Given the description of an element on the screen output the (x, y) to click on. 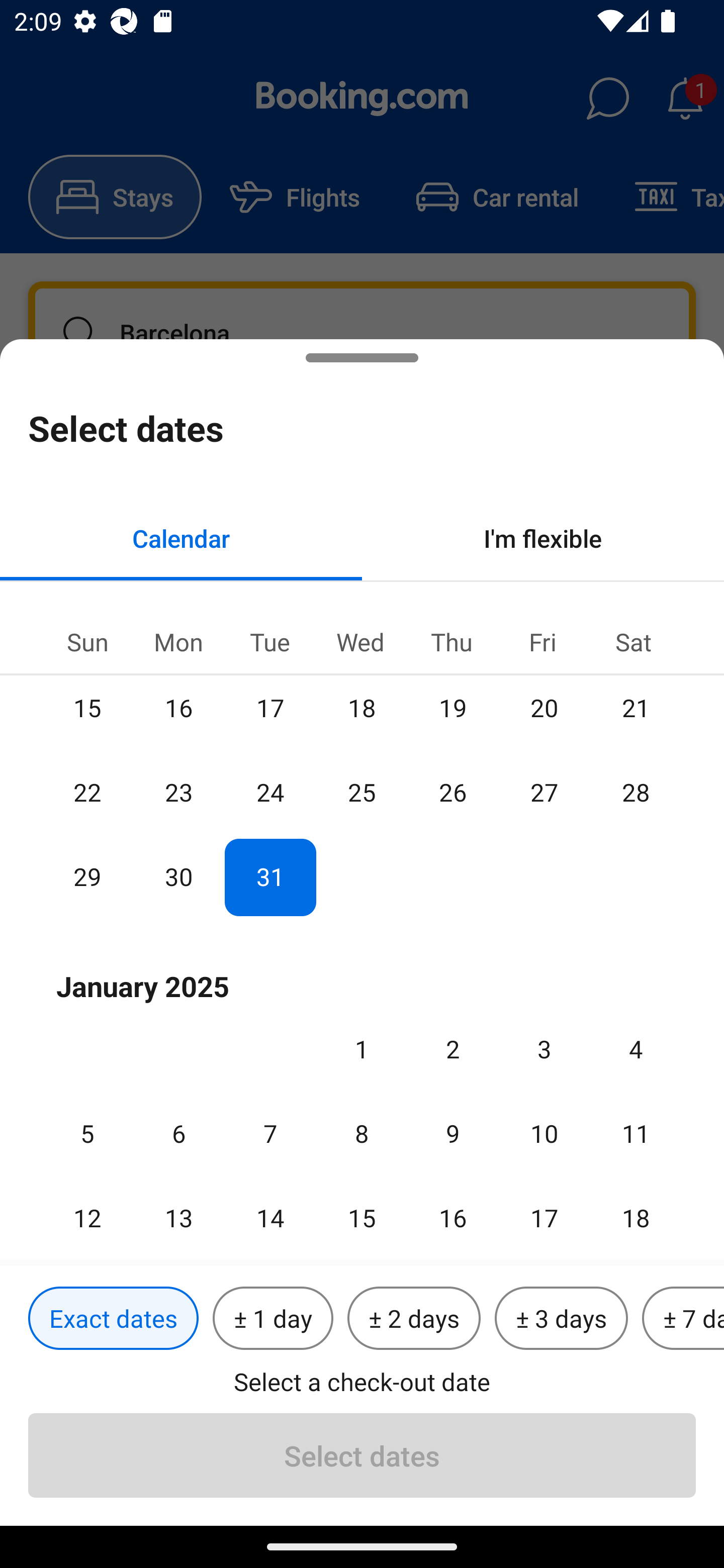
I'm flexible (543, 537)
Exact dates (113, 1318)
± 1 day (272, 1318)
± 2 days (413, 1318)
± 3 days (560, 1318)
± 7 days (683, 1318)
Select dates (361, 1454)
